Given the description of an element on the screen output the (x, y) to click on. 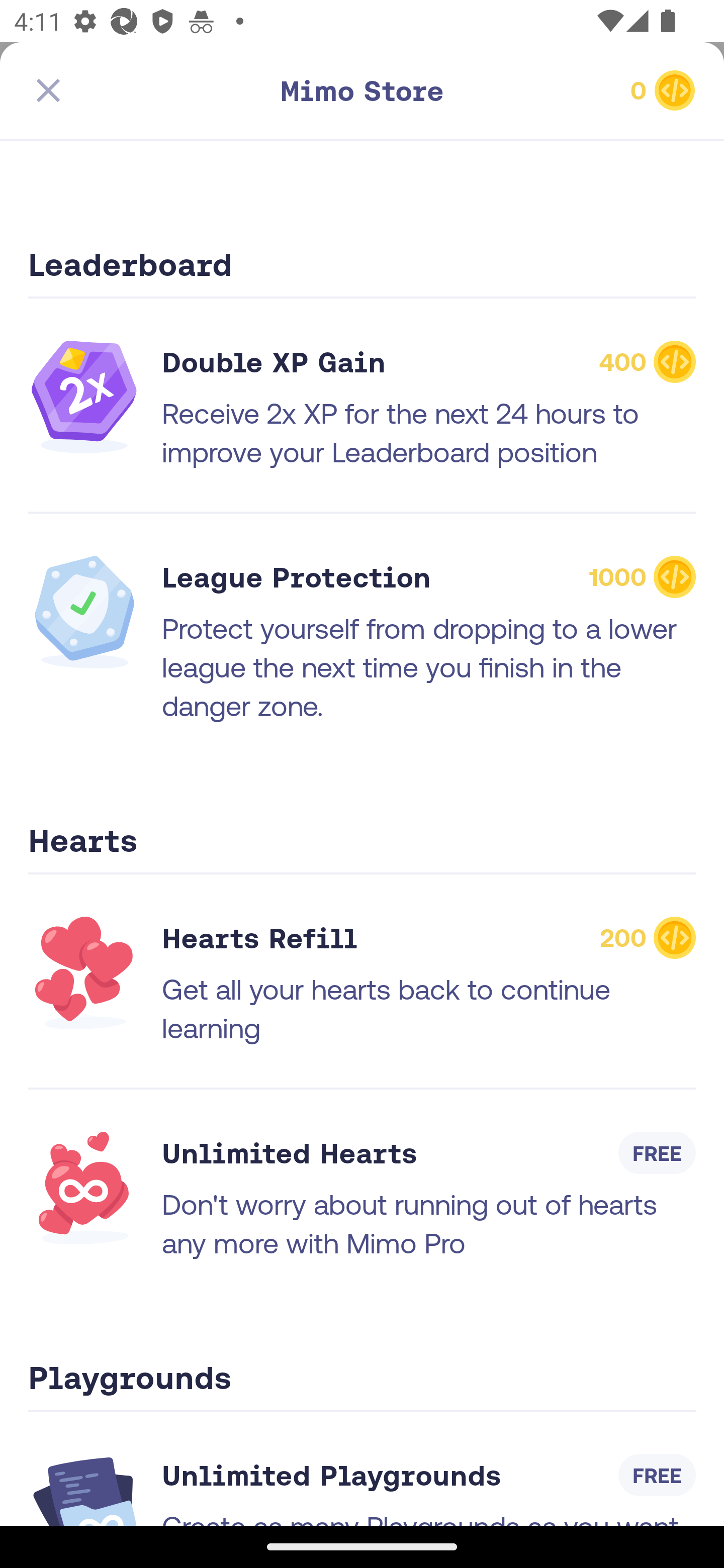
Path Toolbar Image 4 (134, 90)
Path Toolbar Image 0 (361, 90)
Path Toolbar Image 0 (588, 90)
Profile (633, 1475)
